Given the description of an element on the screen output the (x, y) to click on. 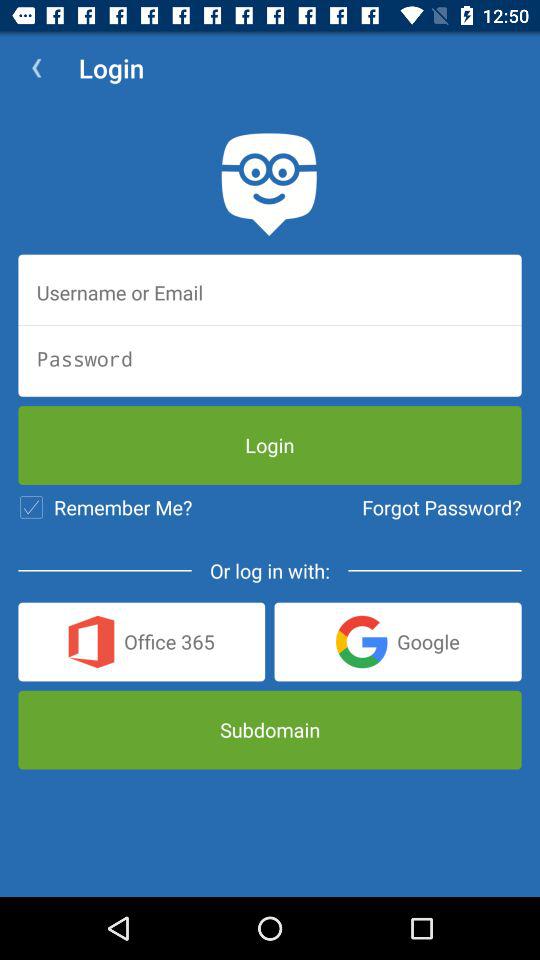
because back devicer (269, 292)
